Given the description of an element on the screen output the (x, y) to click on. 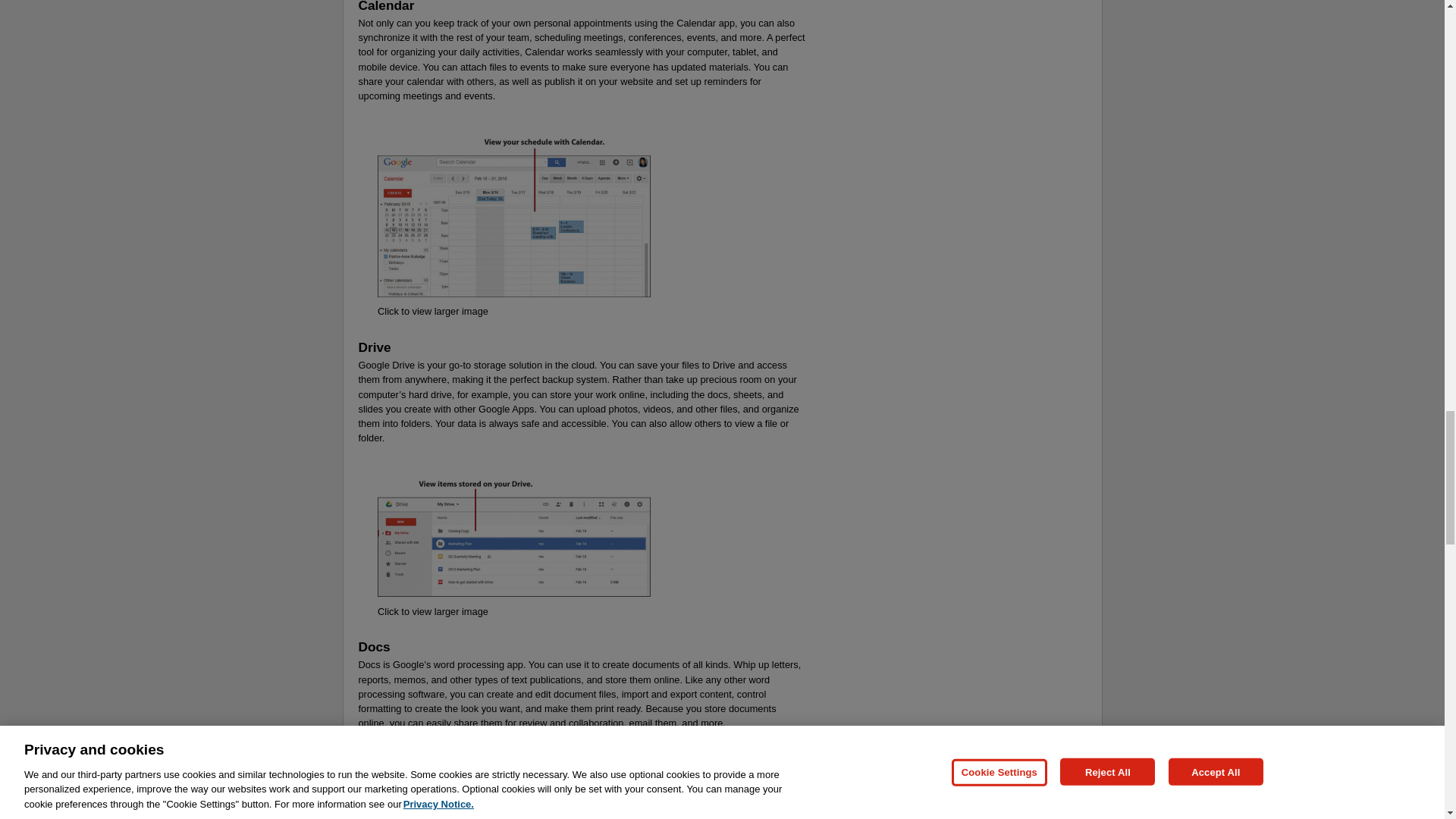
Click to view larger image (432, 611)
Click to view larger image (432, 310)
